Given the description of an element on the screen output the (x, y) to click on. 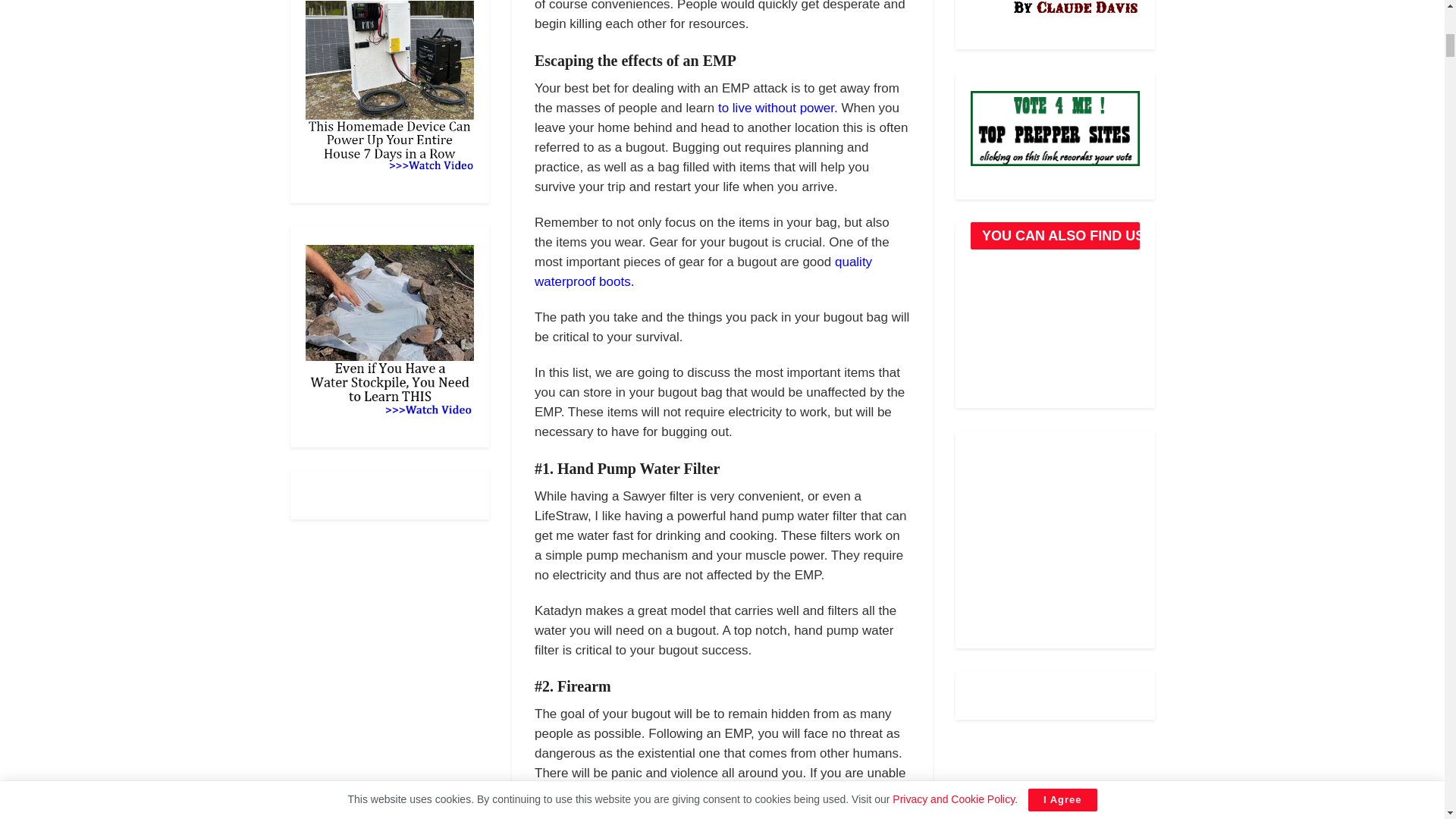
to live without power. (779, 107)
quality waterproof boots (703, 271)
